Given the description of an element on the screen output the (x, y) to click on. 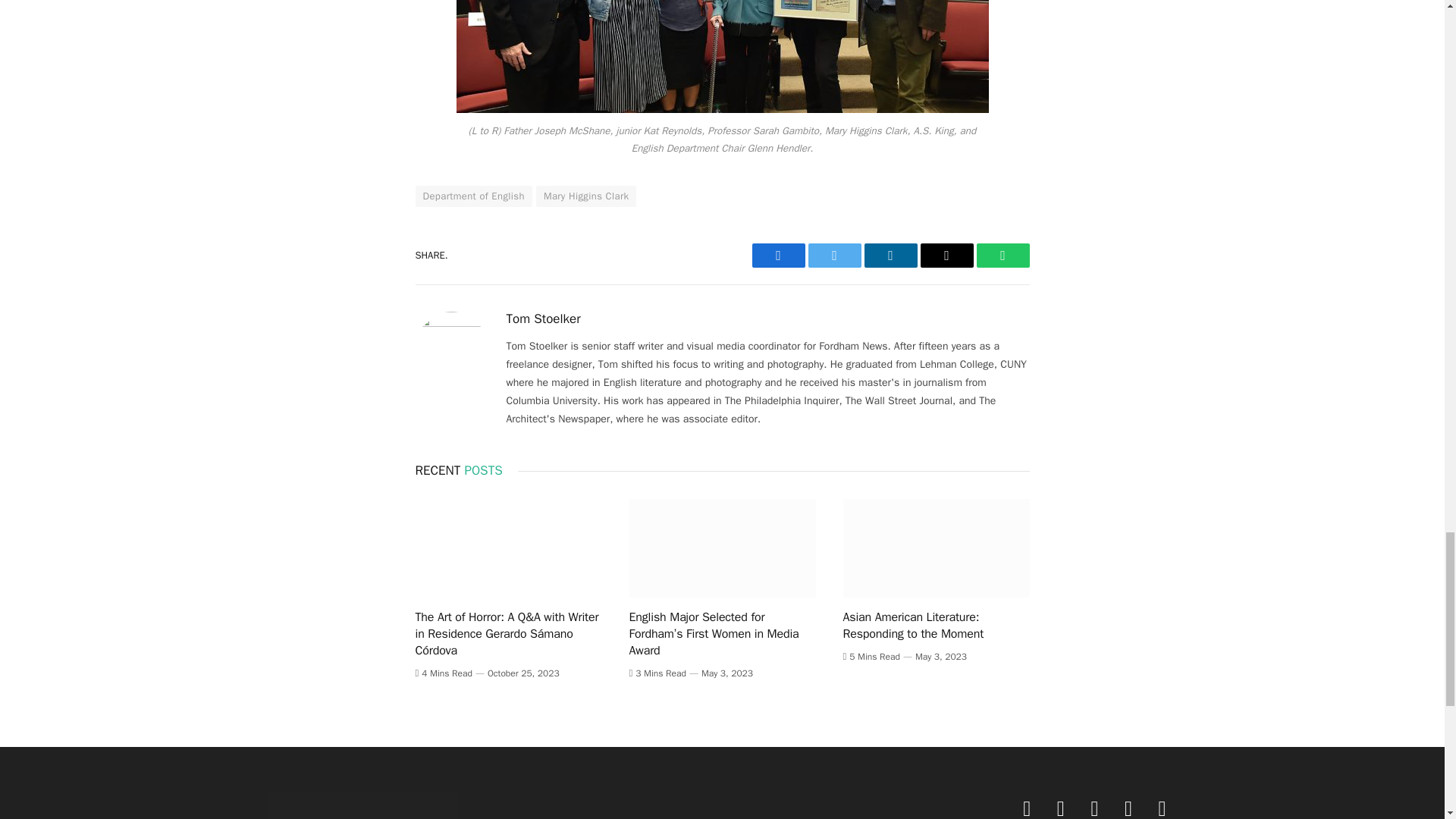
Share via Email (947, 255)
Share on LinkedIn (890, 255)
Share on Facebook (778, 255)
Asian American Literature: Responding to the Moment (936, 548)
Share on WhatsApp (1002, 255)
Posts by Tom Stoelker (543, 319)
